Given the description of an element on the screen output the (x, y) to click on. 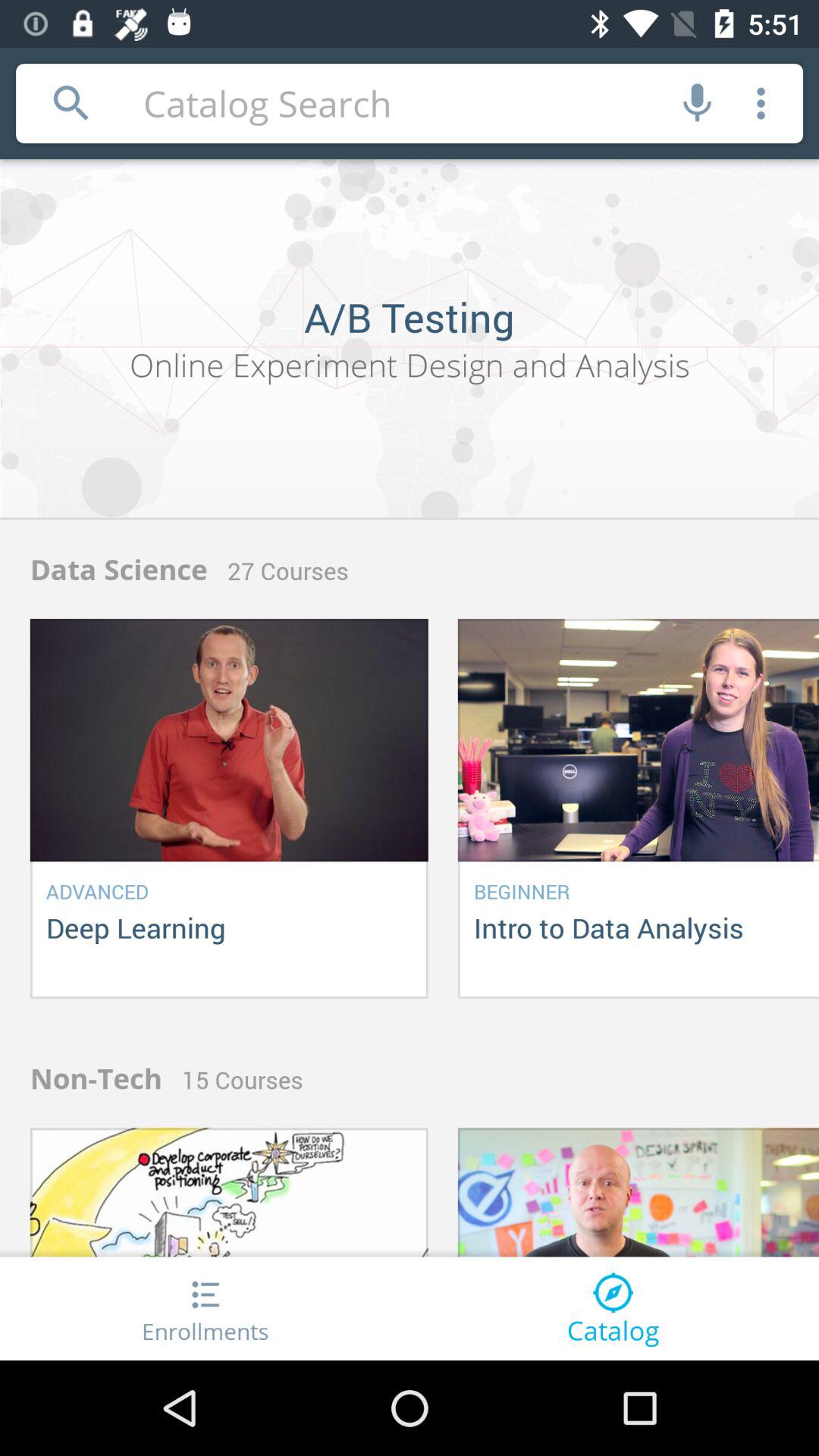
enter speech to text mode (697, 103)
